Given the description of an element on the screen output the (x, y) to click on. 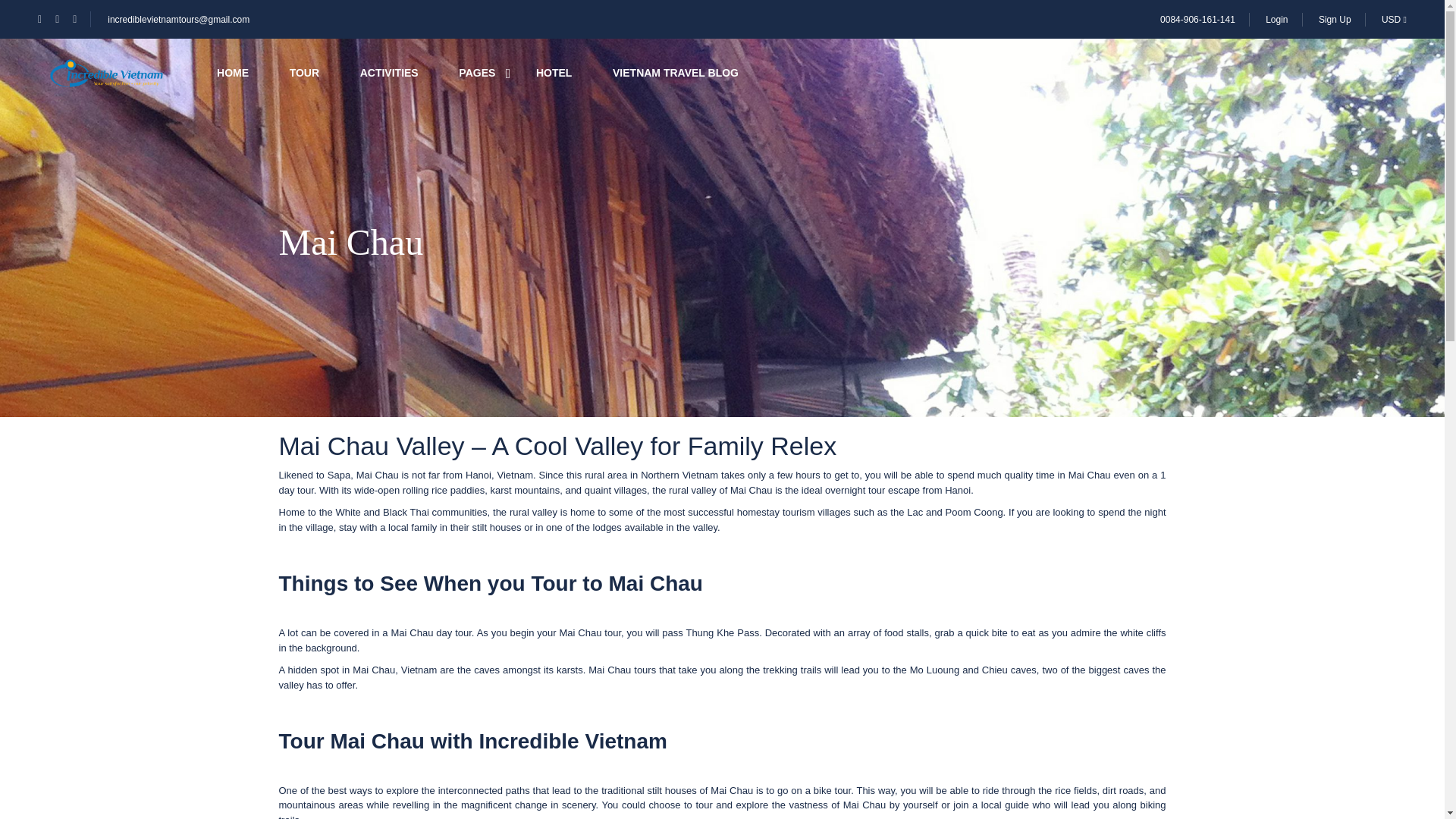
PAGES (476, 72)
Sign Up (1335, 18)
TOUR (303, 72)
0084-906-161-141 (1197, 18)
Login (1276, 18)
USD (1393, 18)
VIETNAM TRAVEL BLOG (675, 72)
HOME (232, 72)
ACTIVITIES (389, 72)
HOTEL (553, 72)
